Given the description of an element on the screen output the (x, y) to click on. 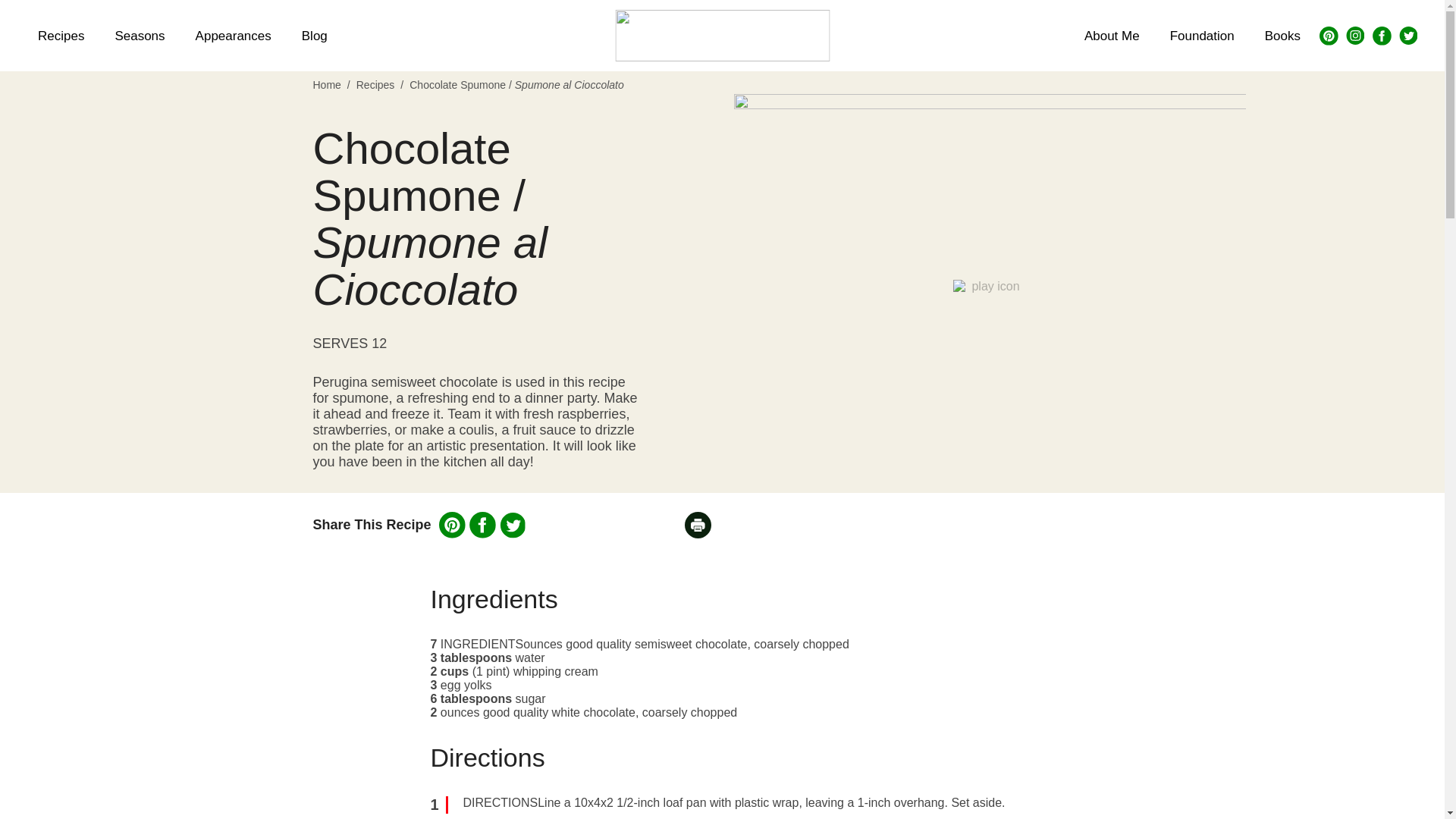
Books (1282, 35)
Appearances (233, 35)
About Me (1111, 35)
Blog (314, 35)
Recipes (61, 35)
Seasons (139, 35)
Home (326, 84)
Recipes (375, 84)
homepage (721, 35)
Foundation (1201, 35)
